Given the description of an element on the screen output the (x, y) to click on. 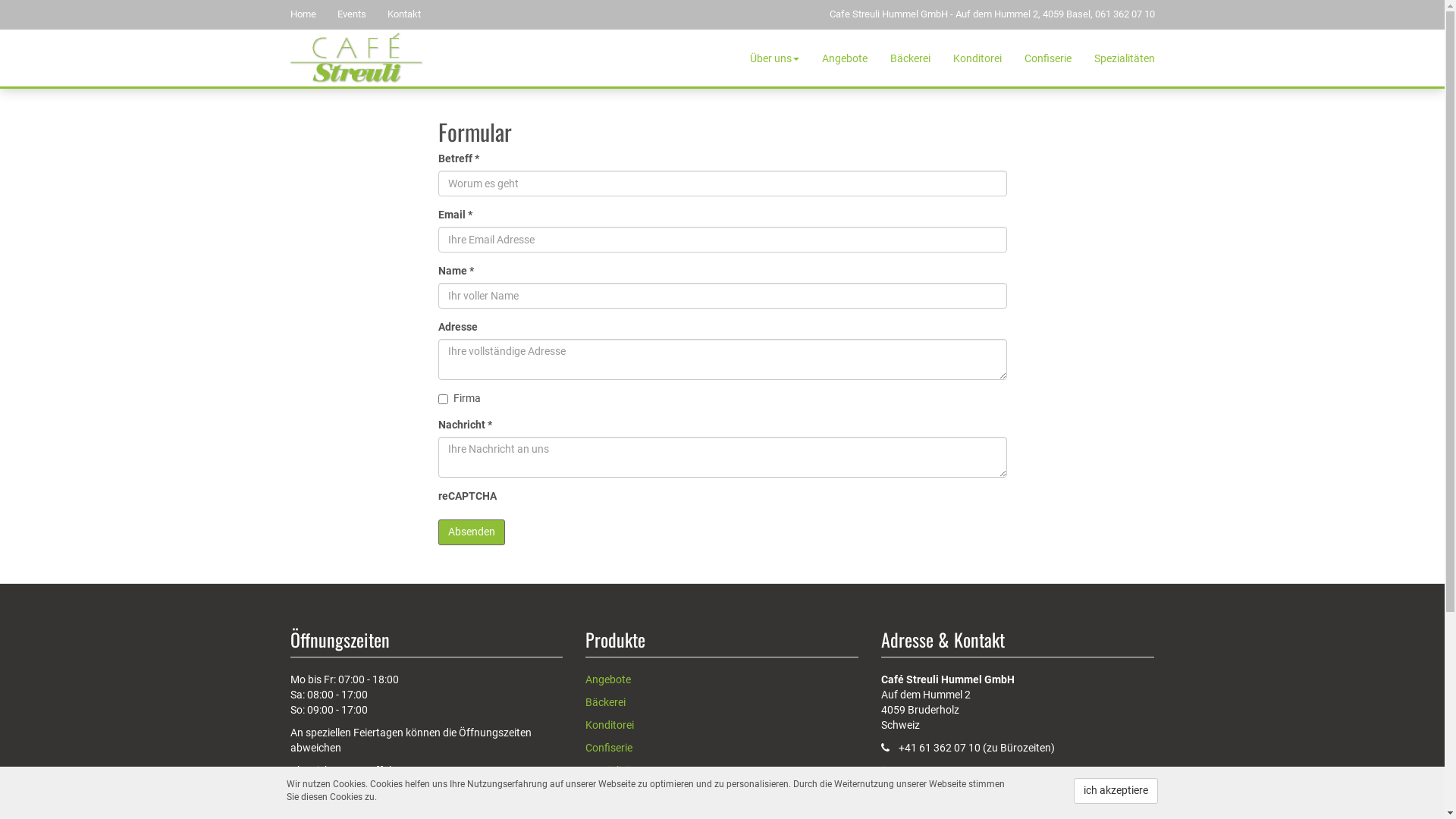
ich akzeptiere Element type: text (1115, 790)
Kontakt Element type: text (411, 14)
Angebote Element type: text (607, 679)
Absenden Element type: text (471, 532)
Angebote Element type: text (843, 57)
Email Element type: text (893, 793)
Confiserie Element type: text (608, 747)
Konditorei Element type: text (609, 724)
Events Element type: text (359, 14)
Home Element type: text (310, 14)
Konditorei Element type: text (977, 57)
Confiserie Element type: text (1047, 57)
